Given the description of an element on the screen output the (x, y) to click on. 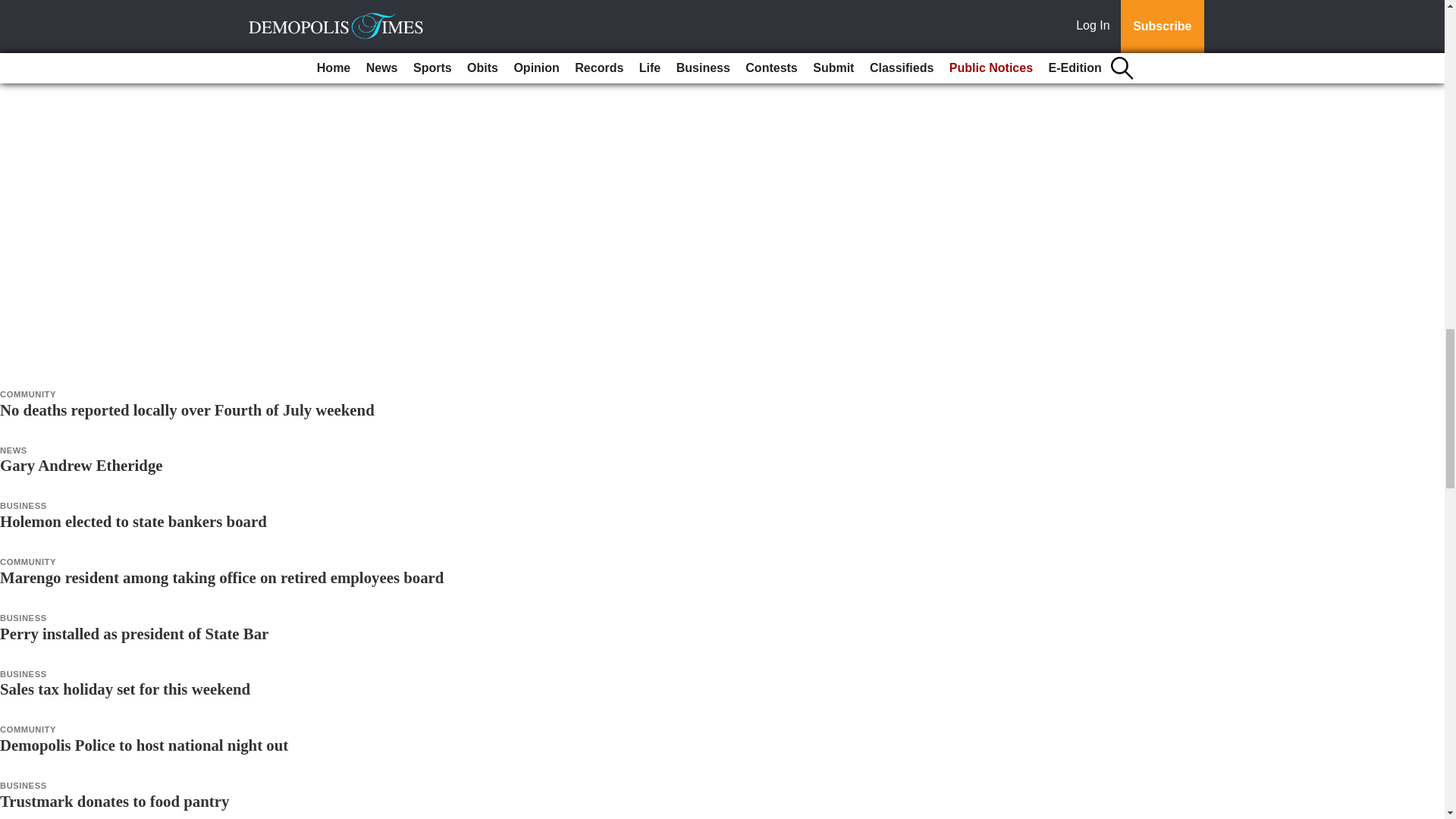
Perry installed as president of State Bar (133, 633)
Sales tax holiday set for this weekend (125, 688)
Gary Andrew Etheridge  (83, 465)
No deaths reported locally over Fourth of July weekend (187, 409)
Holemon elected to state bankers board (133, 520)
Trustmark donates to food pantry (114, 800)
No deaths reported locally over Fourth of July weekend (187, 409)
Demopolis Police to host national night out (144, 744)
Sales tax holiday set for this weekend (125, 688)
Perry installed as president of State Bar (133, 633)
Holemon elected to state bankers board (133, 520)
Trustmark donates to food pantry (114, 800)
Demopolis Police to host national night out (144, 744)
